Given the description of an element on the screen output the (x, y) to click on. 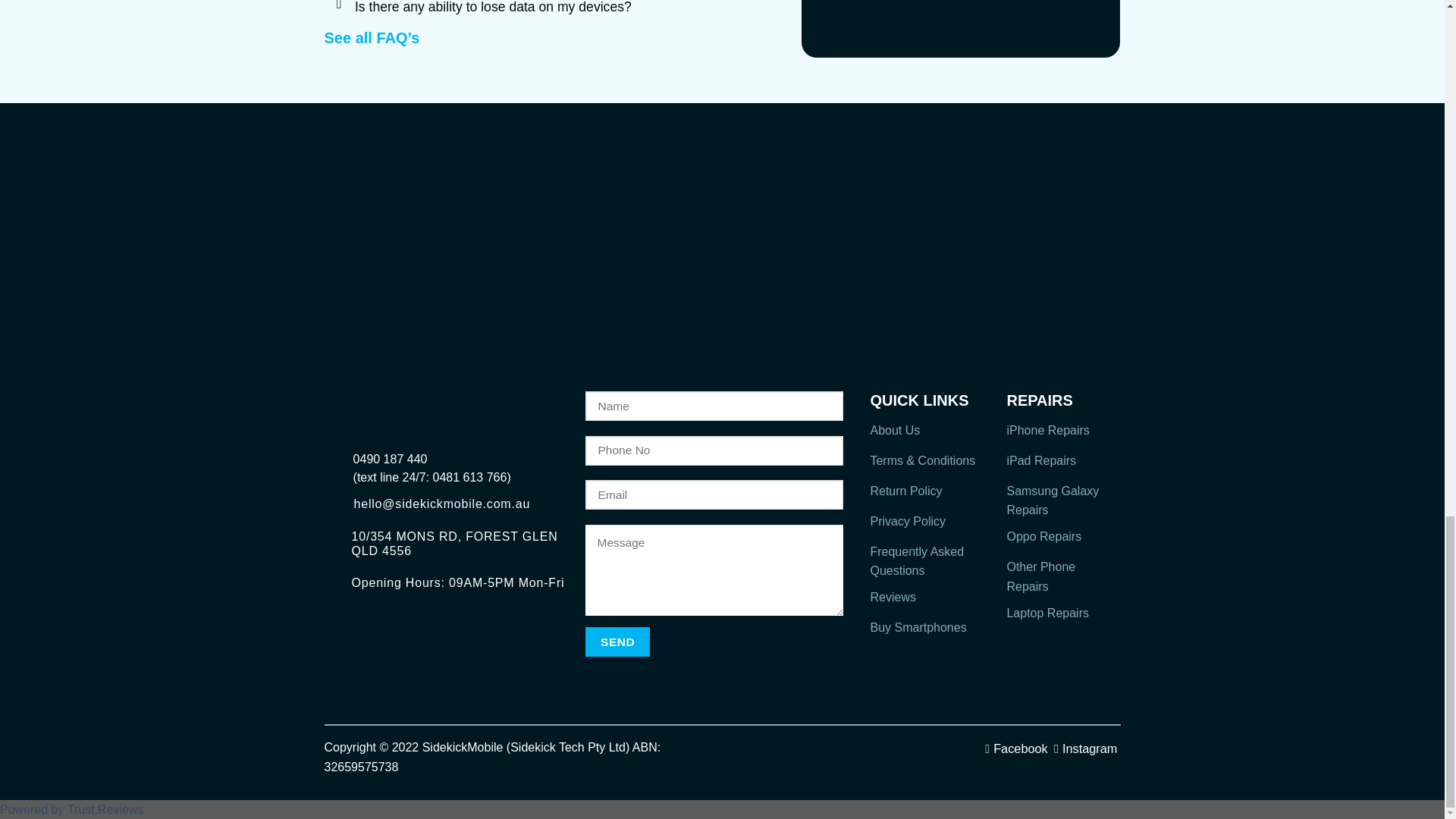
Send (617, 641)
Follow on Instagram (1086, 748)
Follow on Facebook (1016, 748)
